Given the description of an element on the screen output the (x, y) to click on. 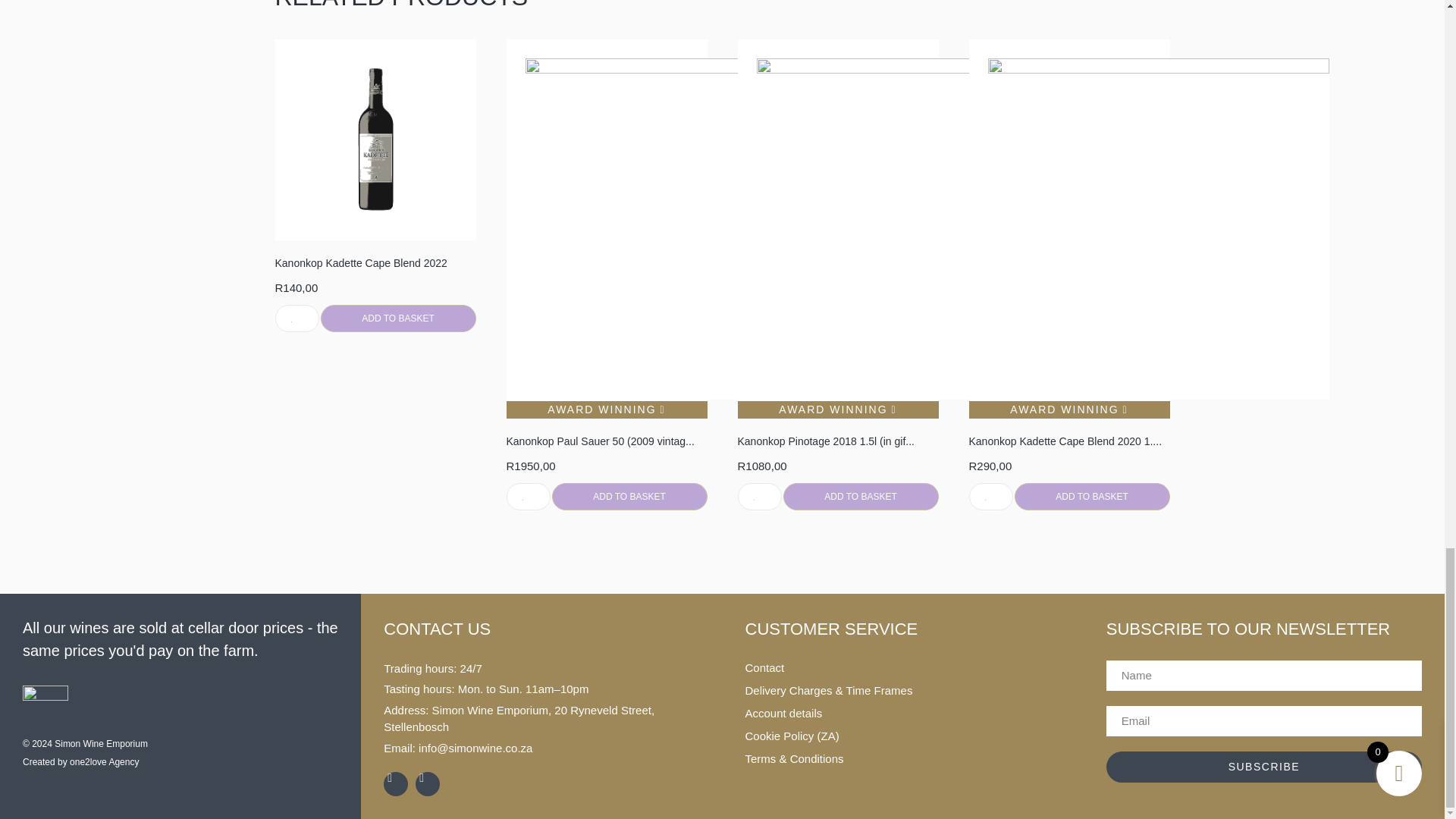
1 (758, 496)
1 (296, 318)
Kanonkop Kadette Cape Blend 2022 (375, 263)
1 (991, 496)
1 (528, 496)
